Given the description of an element on the screen output the (x, y) to click on. 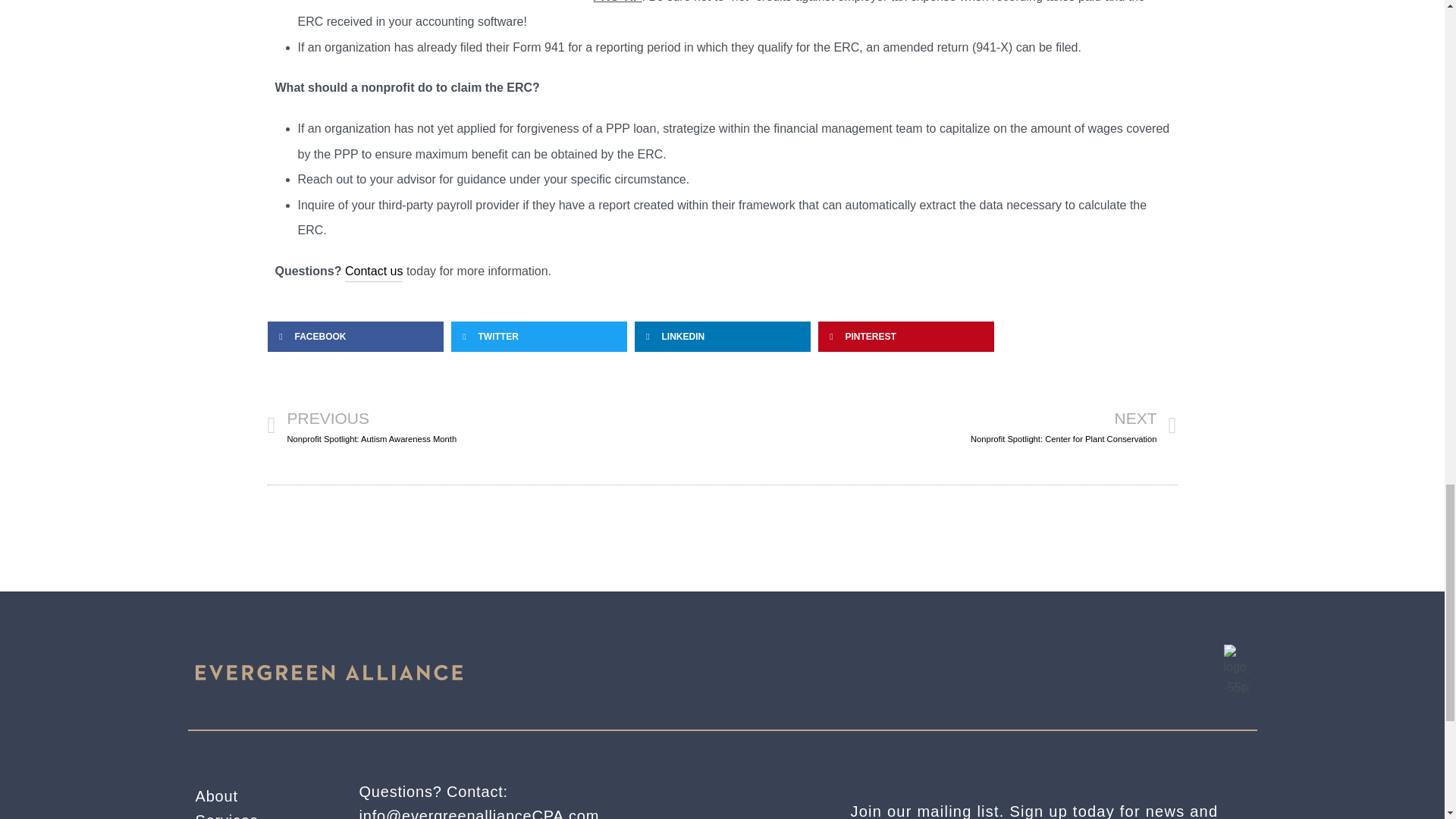
About (494, 425)
Services (258, 796)
Contact us (258, 813)
